Given the description of an element on the screen output the (x, y) to click on. 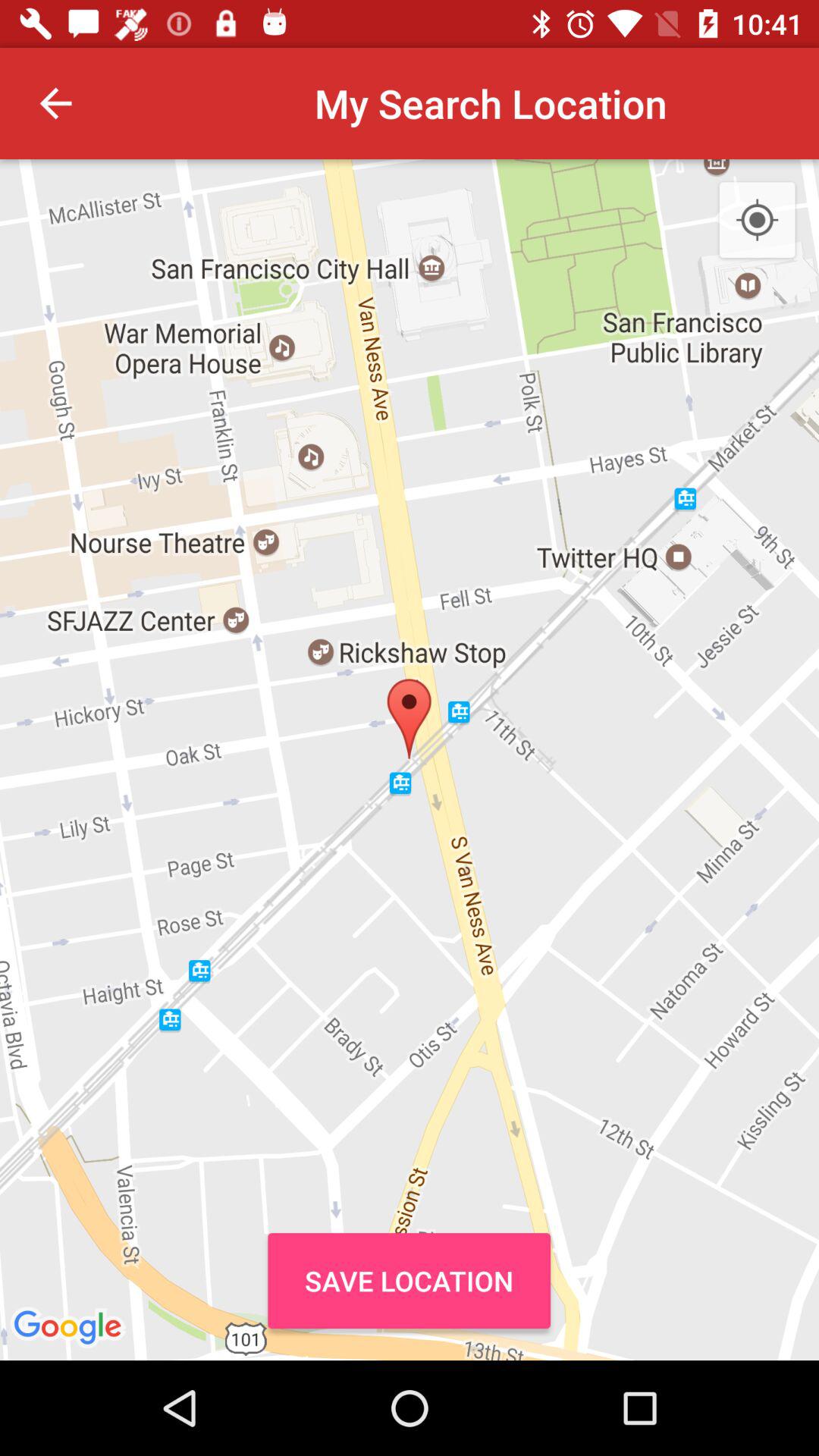
jump until save location item (408, 1280)
